Given the description of an element on the screen output the (x, y) to click on. 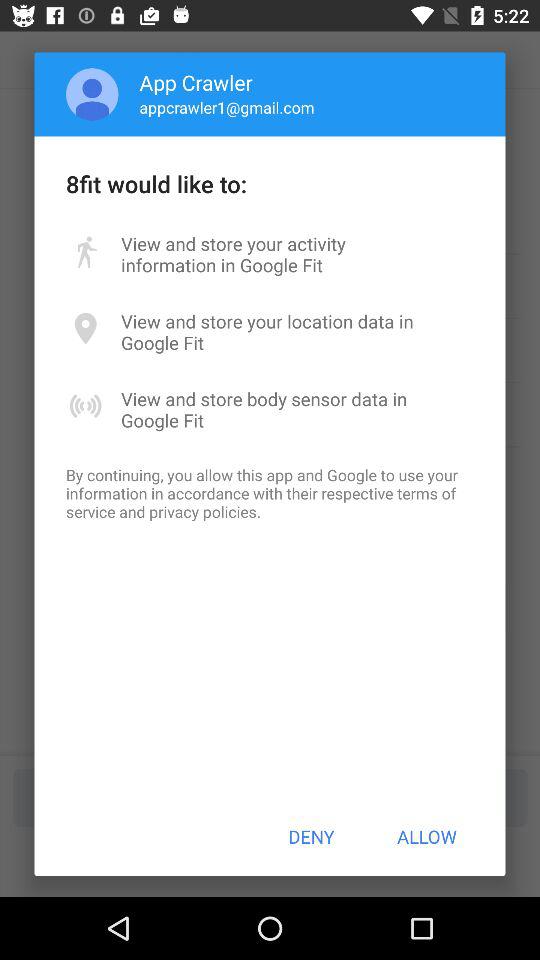
click icon next to app crawler item (92, 94)
